Given the description of an element on the screen output the (x, y) to click on. 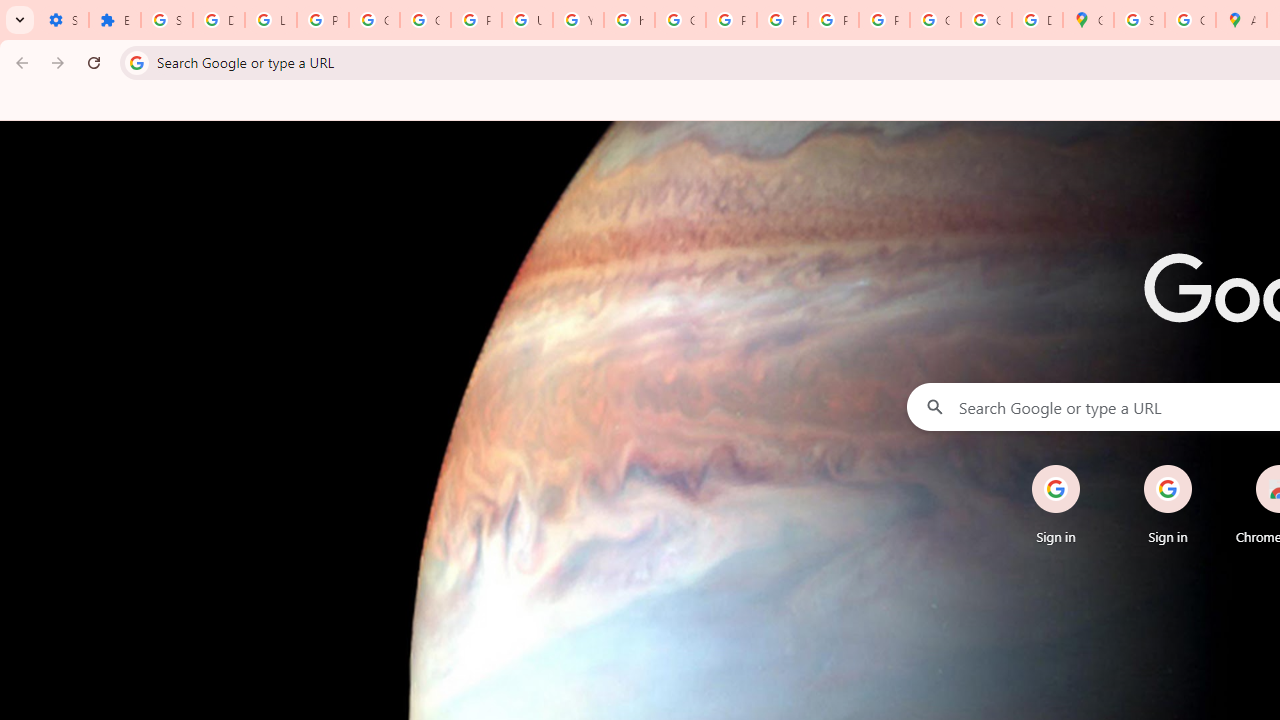
Google Account Help (374, 20)
Sign in - Google Accounts (1138, 20)
Delete photos & videos - Computer - Google Photos Help (218, 20)
Remove (1208, 466)
